Given the description of an element on the screen output the (x, y) to click on. 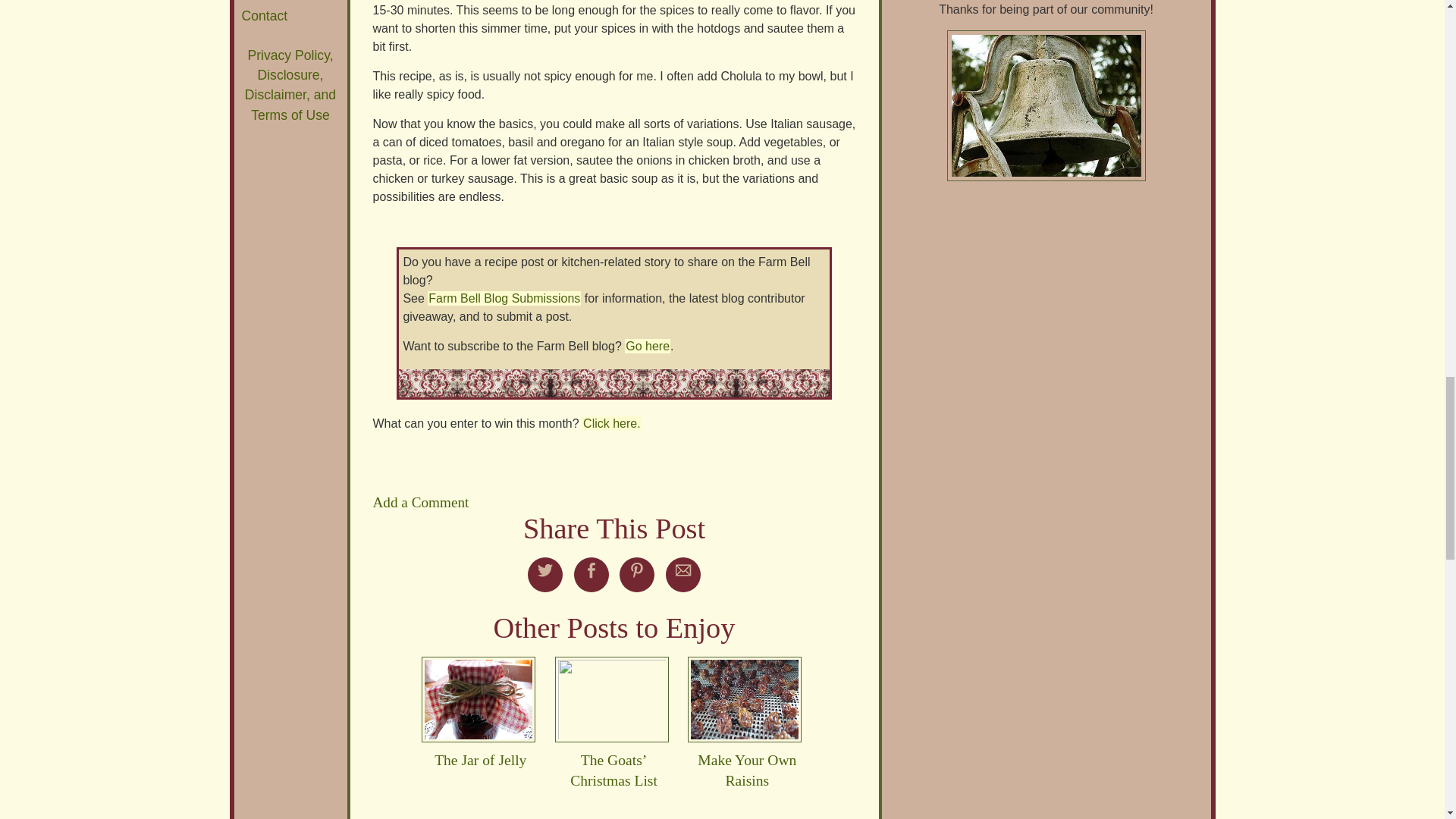
Share on Twitter (544, 569)
Add a Comment (420, 502)
Share on Pinterest (636, 569)
Farm Bell Blog Submissions (504, 298)
Email this Post (683, 569)
Go here (646, 345)
Click here. (612, 423)
Share on Facebook (591, 569)
